Given the description of an element on the screen output the (x, y) to click on. 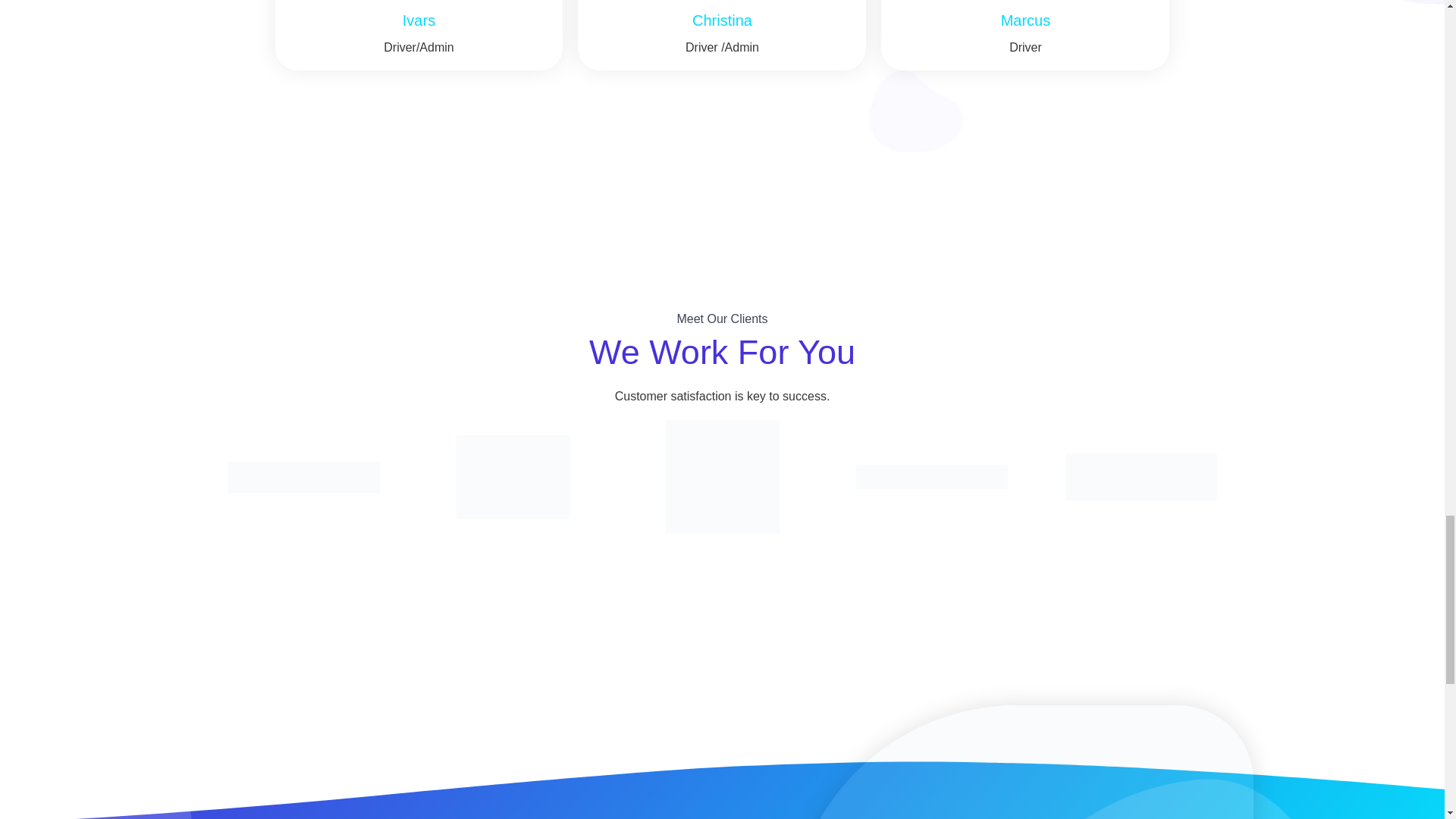
About (513, 476)
About (302, 477)
About (1139, 476)
About (721, 476)
About (931, 476)
About (1020, 762)
